Given the description of an element on the screen output the (x, y) to click on. 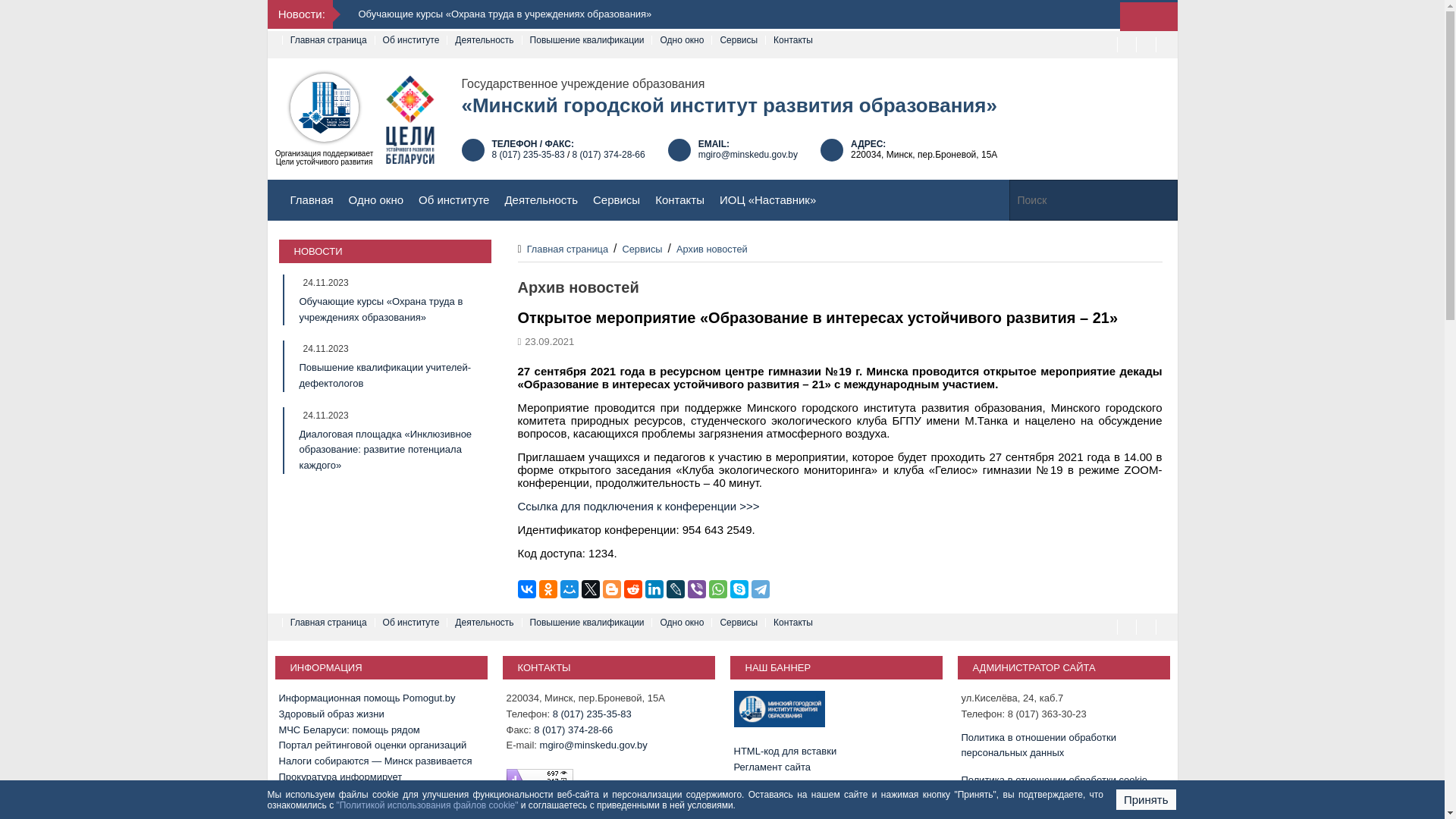
Viber Element type: hover (696, 589)
reddit Element type: hover (632, 589)
Skype Element type: hover (738, 589)
Blogger Element type: hover (611, 589)
8 (017) 235-35-83 Element type: text (591, 713)
Twitter Element type: hover (589, 589)
mgiro@minskedu.gov.by Element type: text (747, 154)
LiveJournal Element type: hover (674, 589)
LinkedIn Element type: hover (653, 589)
mgiro@minskedu.gov.by Element type: text (593, 744)
8 (017) 235-35-83 Element type: text (527, 154)
8 (017) 374-28-66 Element type: text (608, 154)
WhatsApp Element type: hover (717, 589)
Telegram Element type: hover (759, 589)
8 (017) 374-28-66 Element type: text (572, 729)
